Given the description of an element on the screen output the (x, y) to click on. 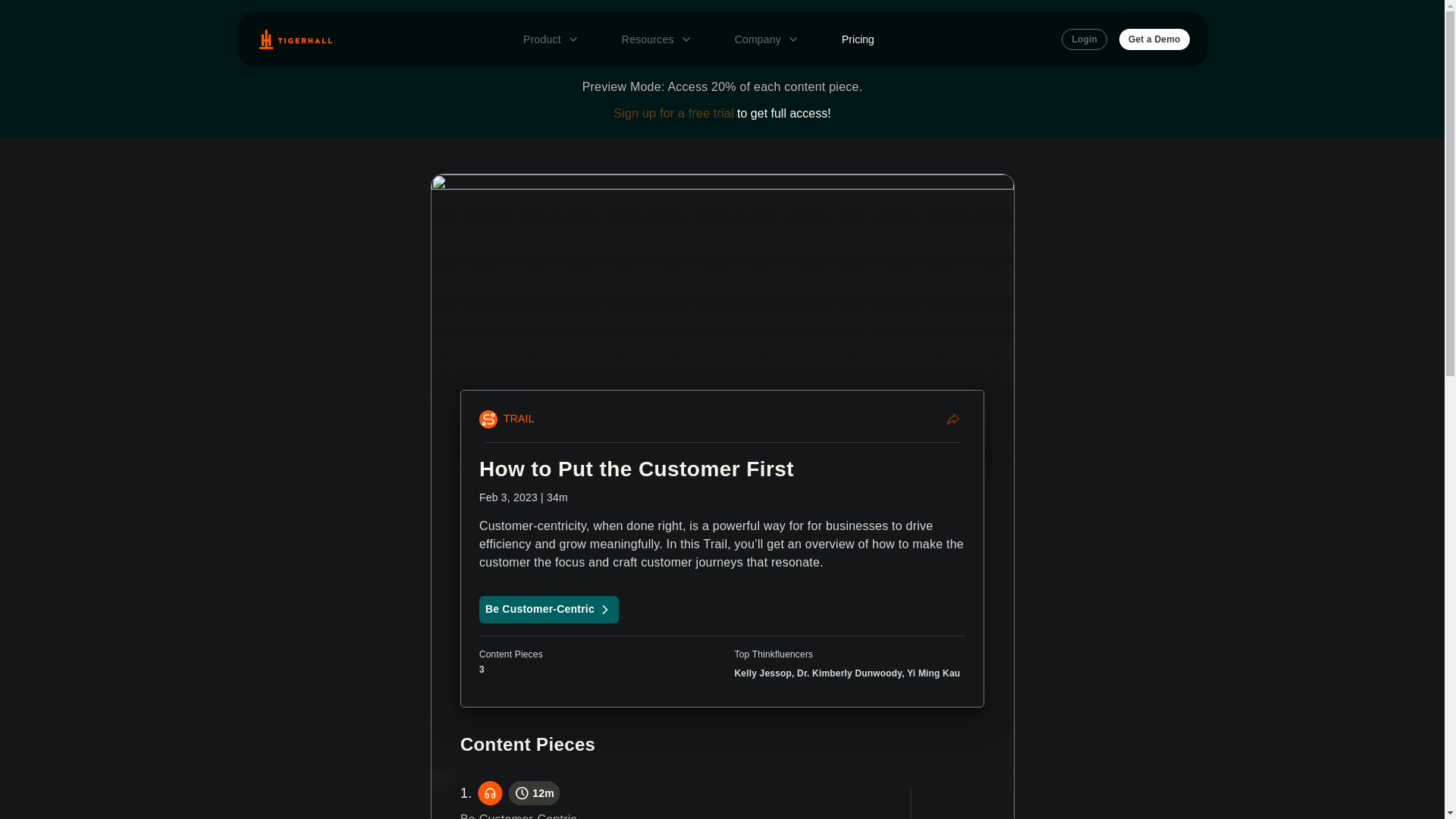
Company (766, 39)
Login (1083, 38)
Sign up for a free trial (672, 113)
Product (551, 39)
Get a Demo (1154, 38)
Be Customer-Centric (548, 609)
Go to homepage (294, 38)
Pricing (857, 39)
Resources (657, 39)
